Given the description of an element on the screen output the (x, y) to click on. 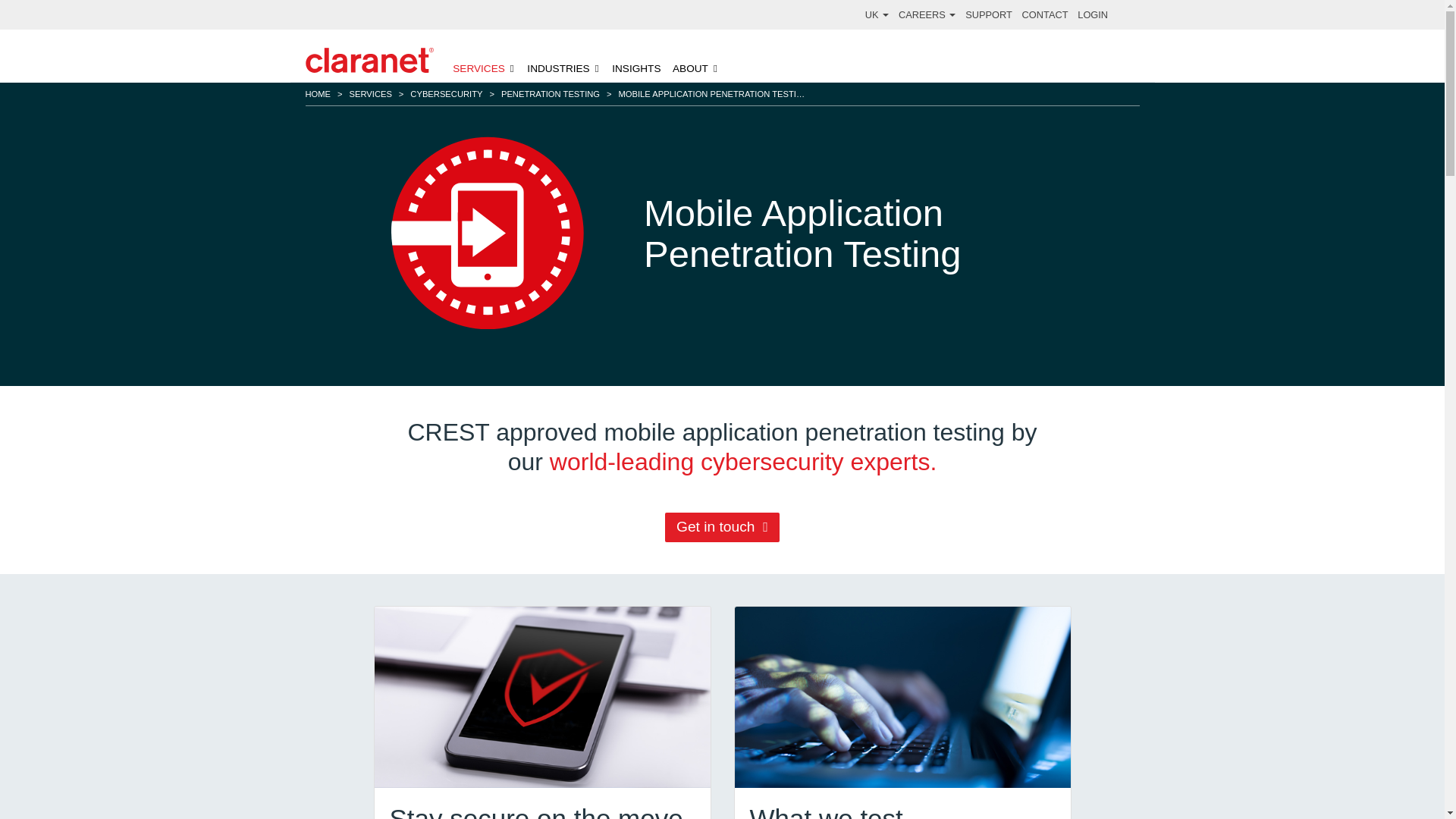
CAREERS (926, 14)
UK (876, 14)
UK (876, 14)
LOGIN (1092, 14)
SERVICES (483, 68)
CONTACT (1045, 14)
SUPPORT (988, 14)
Get in touch (722, 526)
